Given the description of an element on the screen output the (x, y) to click on. 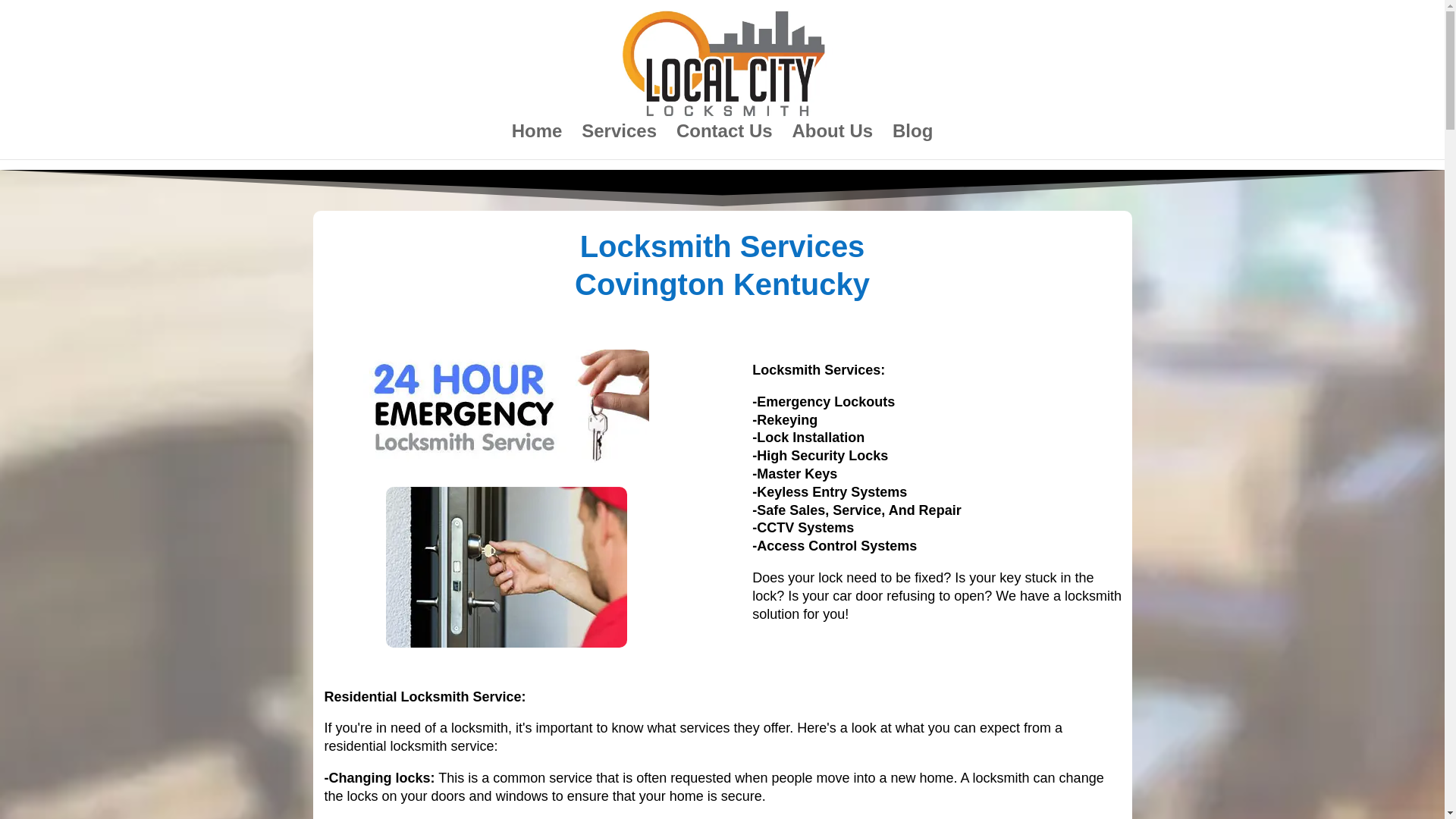
Blog (912, 142)
local-locksmith-services (506, 566)
Contact Us (725, 142)
Home (537, 142)
Services (618, 142)
About Us (832, 142)
emergency-locksmith (505, 405)
